Given the description of an element on the screen output the (x, y) to click on. 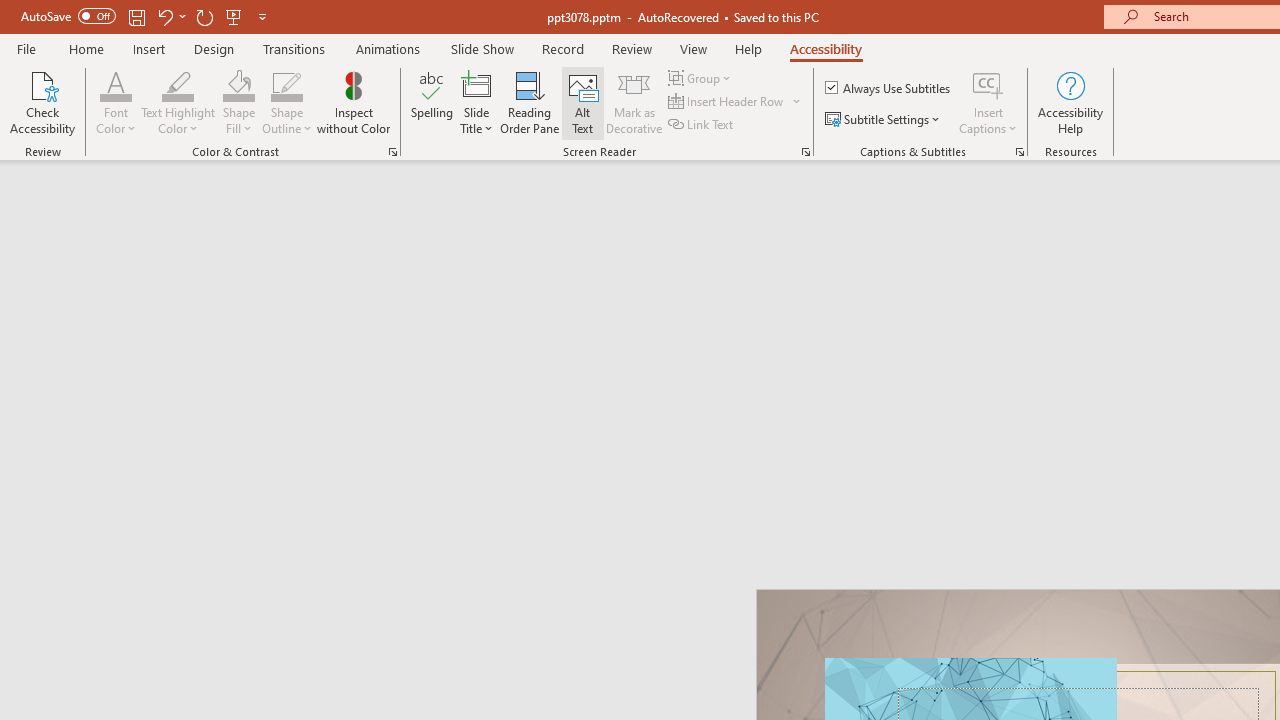
Accessibility Help (1070, 102)
Screen Reader (805, 151)
Reading Order Pane (529, 102)
Link Text (702, 124)
Captions & Subtitles (1019, 151)
